Given the description of an element on the screen output the (x, y) to click on. 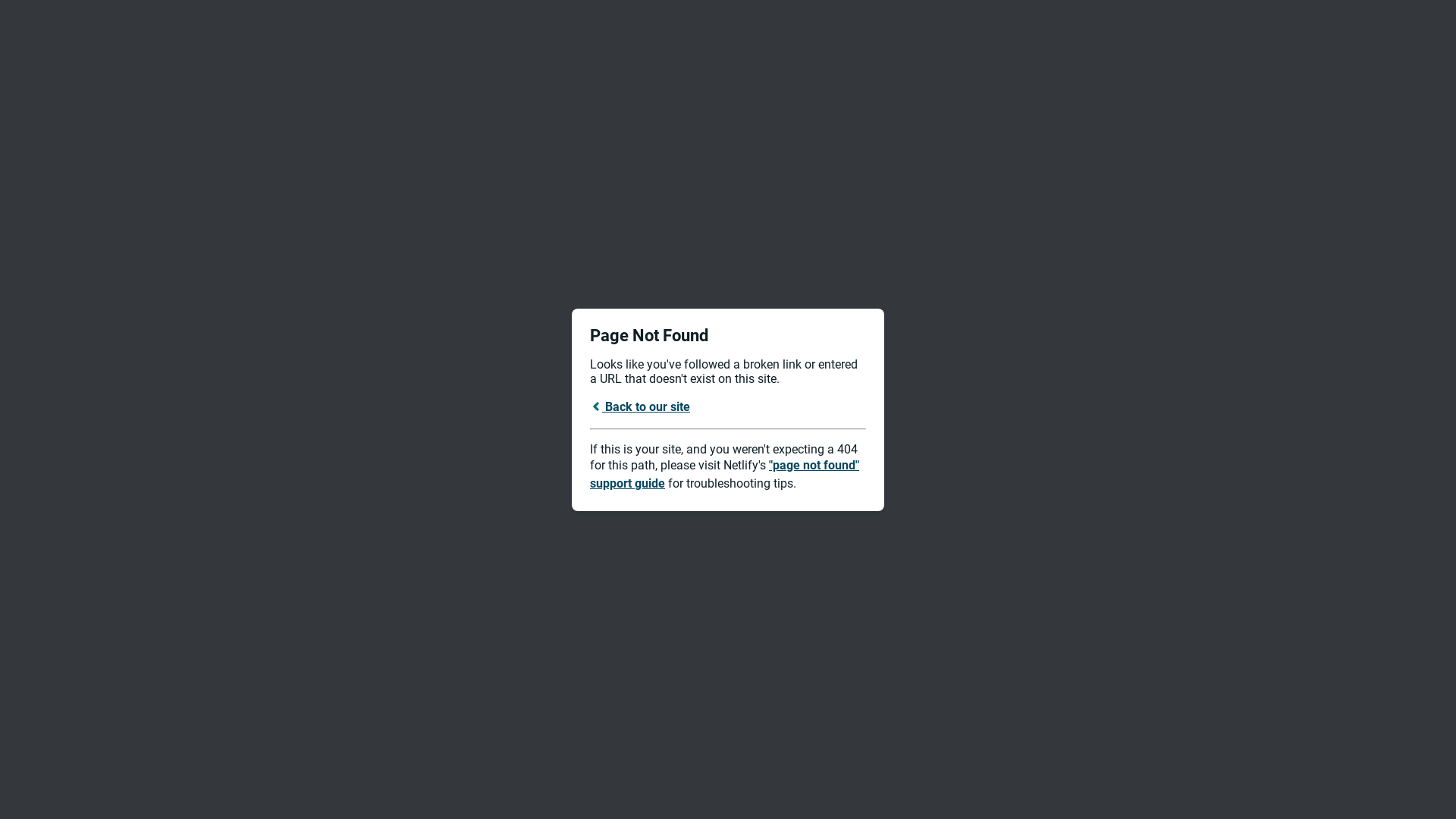
Back to our site Element type: text (639, 405)
"page not found" support guide Element type: text (724, 474)
